Given the description of an element on the screen output the (x, y) to click on. 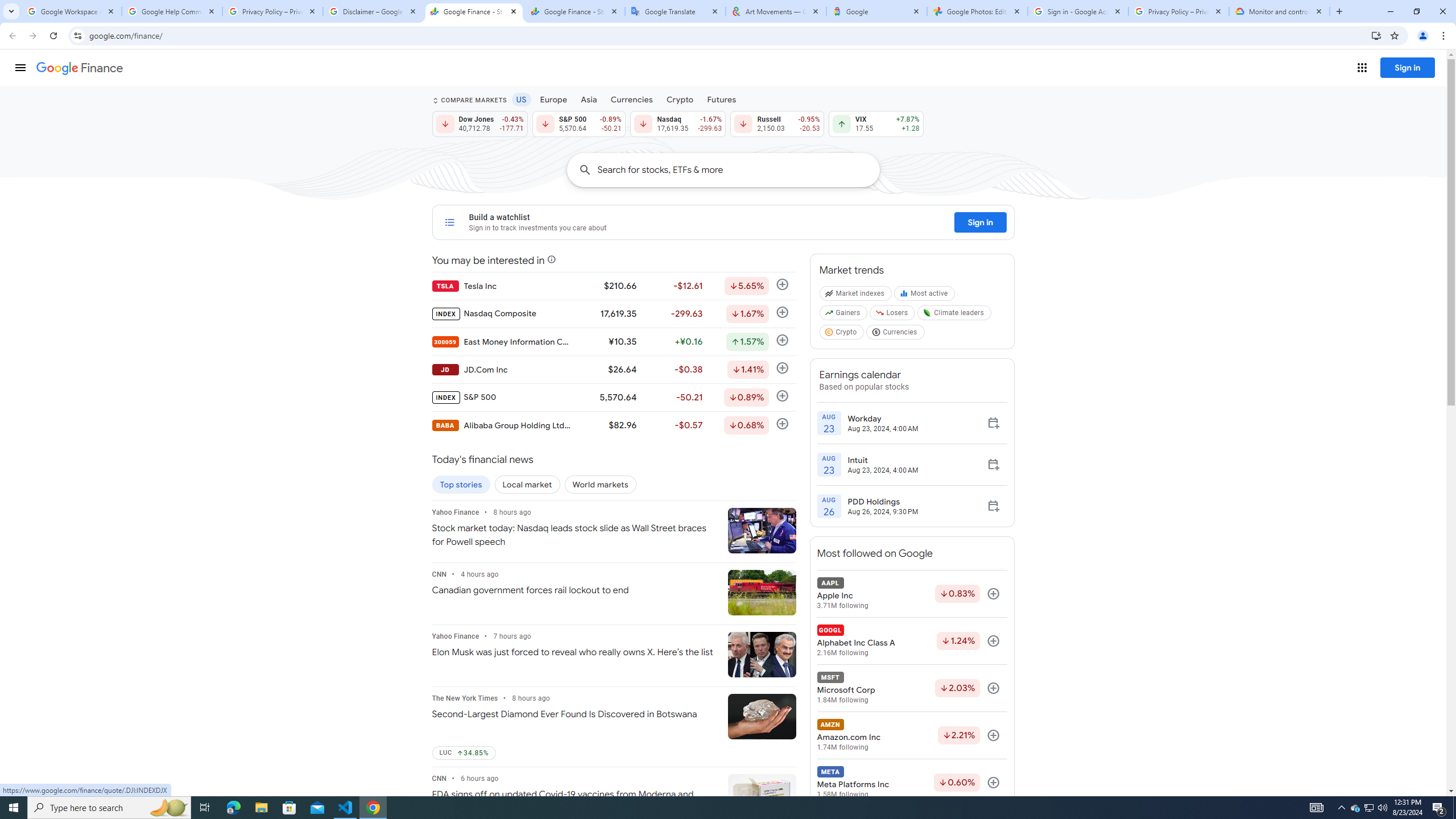
INDEX S&P 500 5,570.64 -50.21 Down by 0.89% Follow (613, 396)
AAPL Apple Inc 3.71M following Down by 0.83% Follow (911, 593)
Currencies (631, 99)
Follow (993, 782)
Nasdaq 17,619.35 Down by 1.67% -299.63 (678, 123)
Google Workspace Admin Community (71, 11)
Google Translate (675, 11)
